Given the description of an element on the screen output the (x, y) to click on. 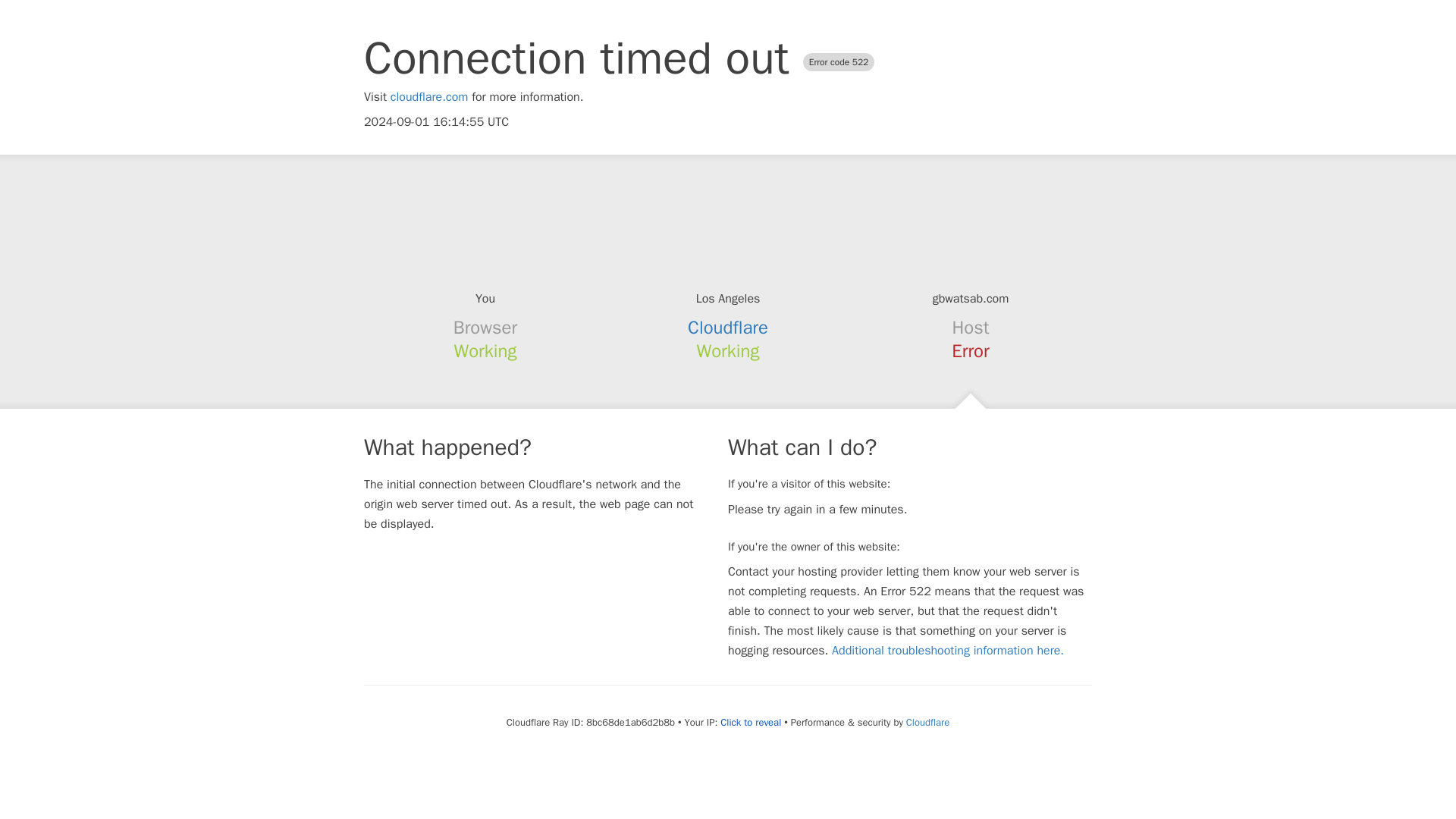
cloudflare.com (429, 96)
Additional troubleshooting information here. (947, 650)
Cloudflare (727, 327)
Cloudflare (927, 721)
Click to reveal (750, 722)
